Given the description of an element on the screen output the (x, y) to click on. 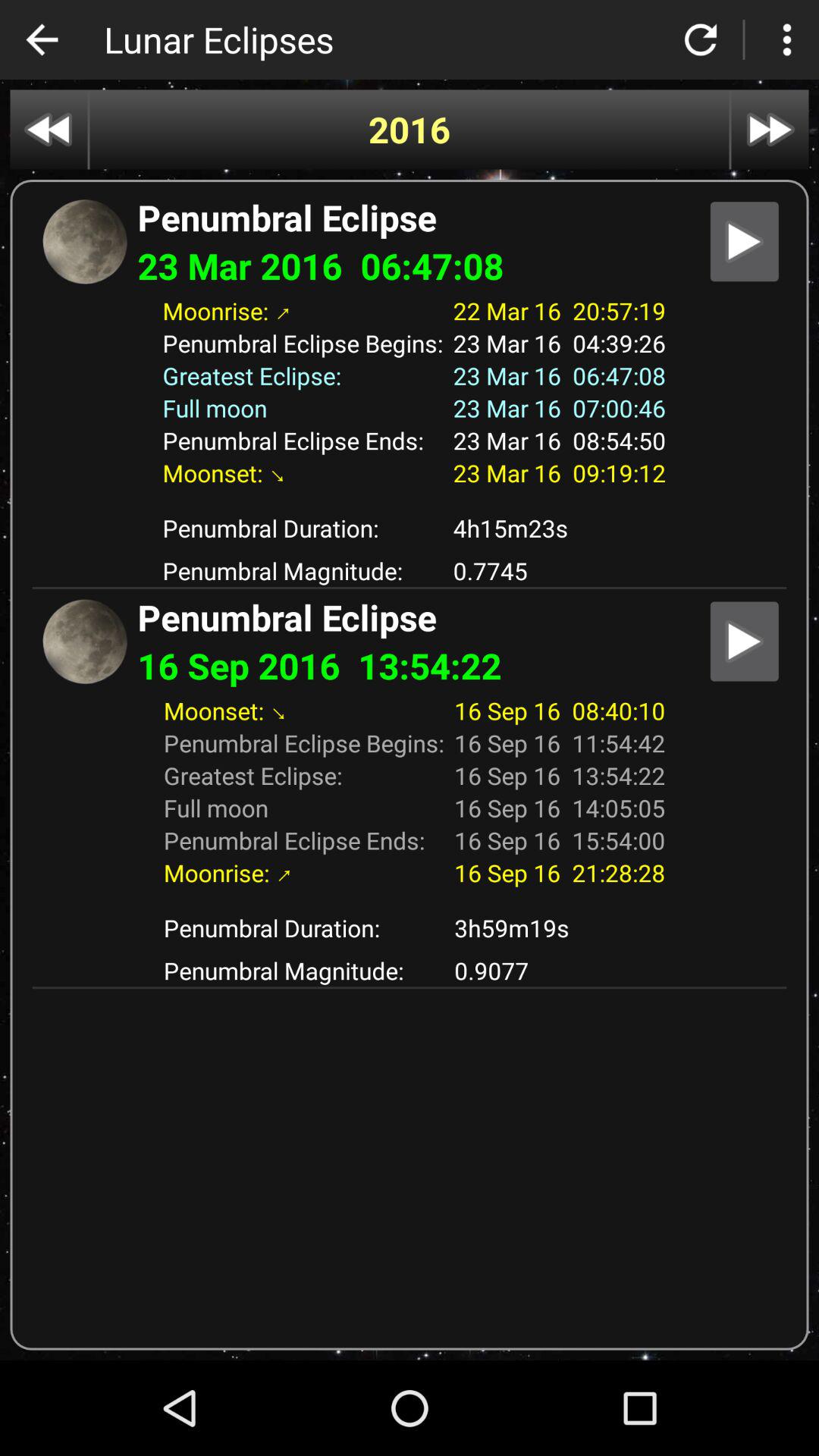
press item next to the penumbral duration: icon (559, 527)
